Given the description of an element on the screen output the (x, y) to click on. 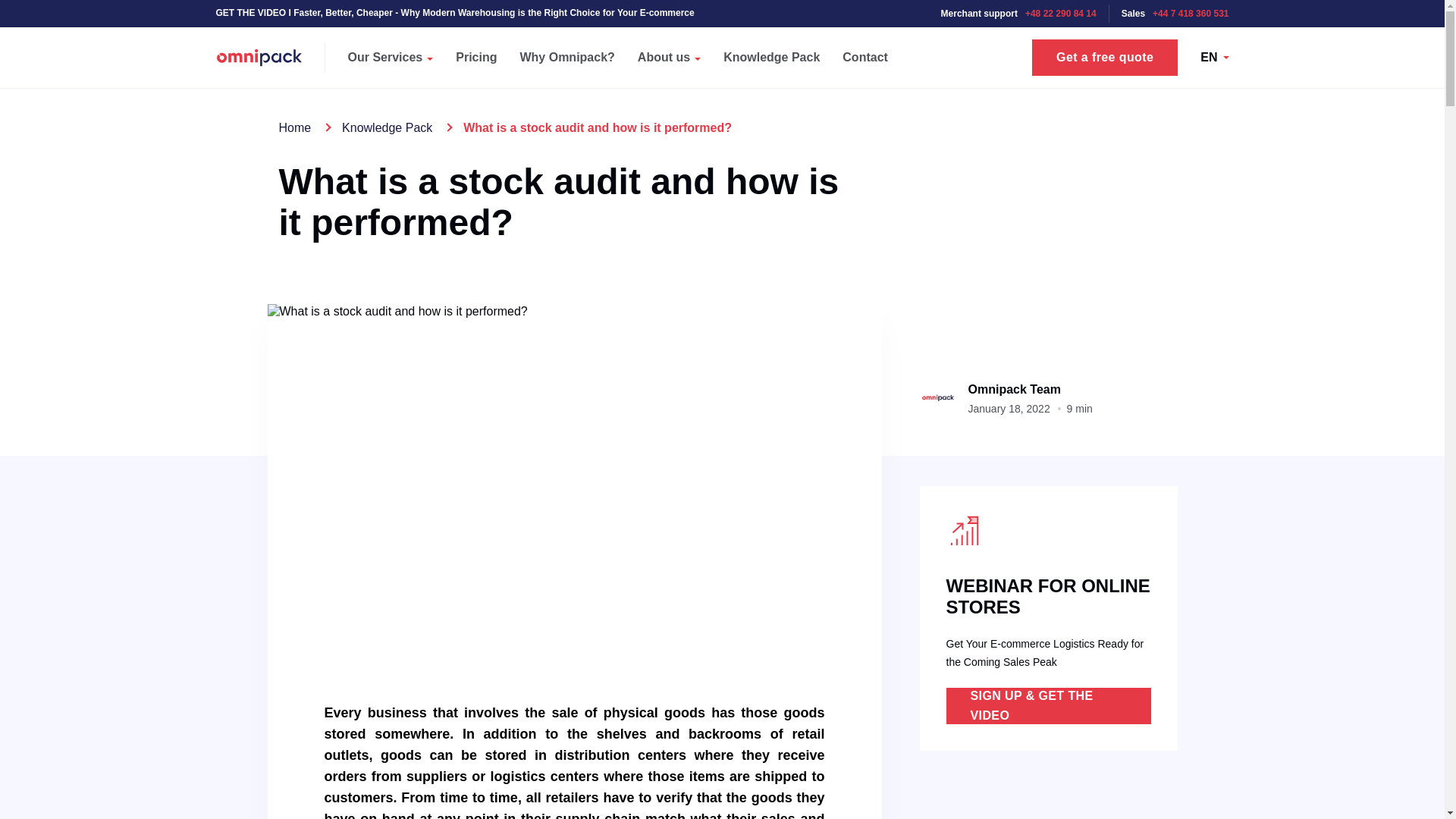
Pricing (476, 57)
Home (295, 127)
Our Services (390, 57)
Case studies (717, 45)
Testimonials (947, 45)
About us (668, 57)
Get a free quote (1104, 57)
Returns (702, 10)
